Given the description of an element on the screen output the (x, y) to click on. 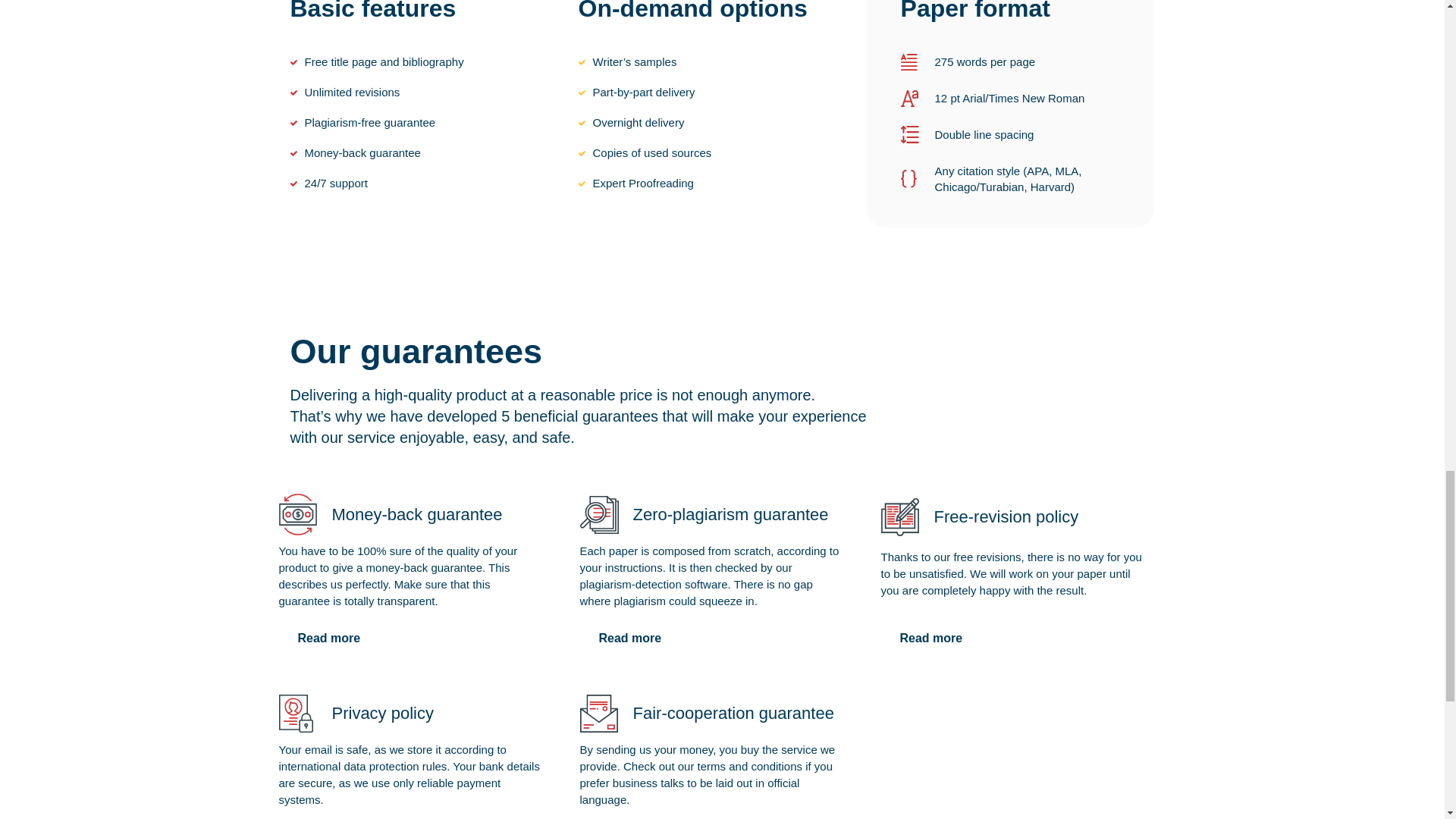
Read more (629, 638)
Read more (930, 638)
Read more (329, 638)
